Given the description of an element on the screen output the (x, y) to click on. 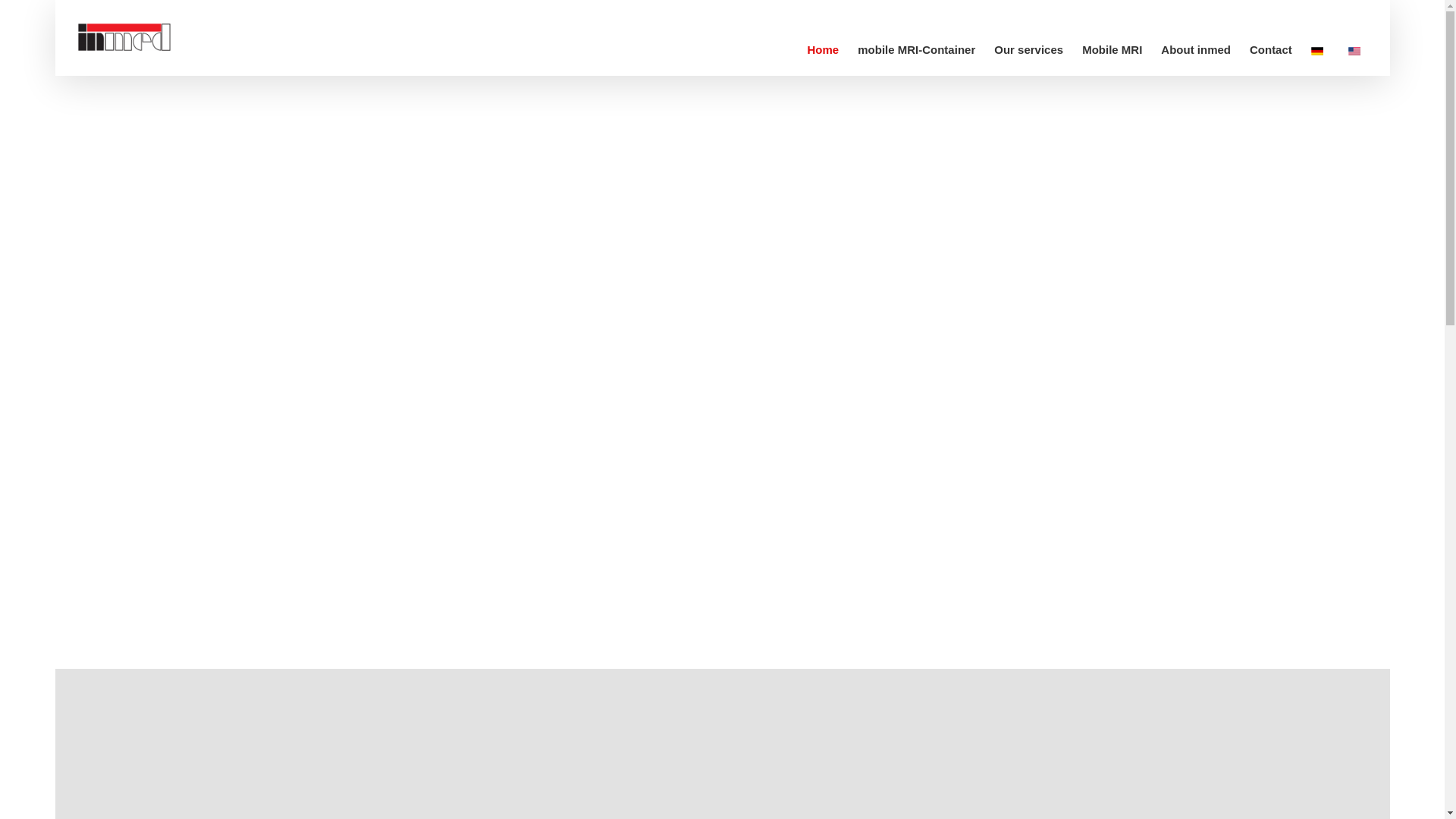
mobile MRI-Container (916, 49)
English (1353, 50)
Deutsch (1317, 50)
Our services (1028, 49)
Mobile MRI (1111, 49)
About inmed (1195, 49)
